Given the description of an element on the screen output the (x, y) to click on. 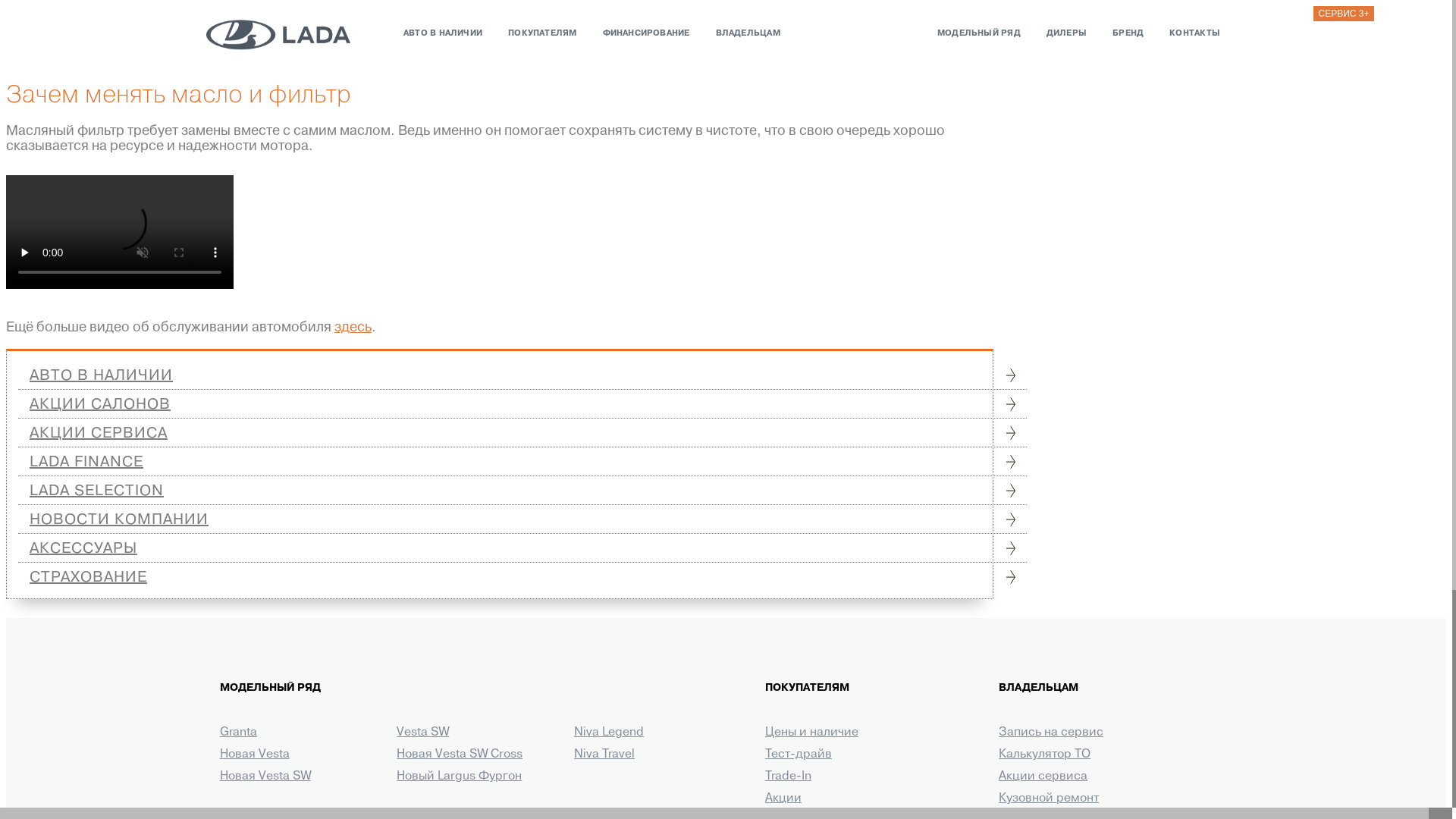
Trade-In Element type: text (788, 776)
Niva Legend Element type: text (608, 732)
Niva Travel Element type: text (604, 754)
Granta Element type: text (238, 732)
LADA SELECTION Element type: text (522, 490)
Vesta SW Element type: text (422, 732)
LADA FINANCE Element type: text (522, 461)
